Given the description of an element on the screen output the (x, y) to click on. 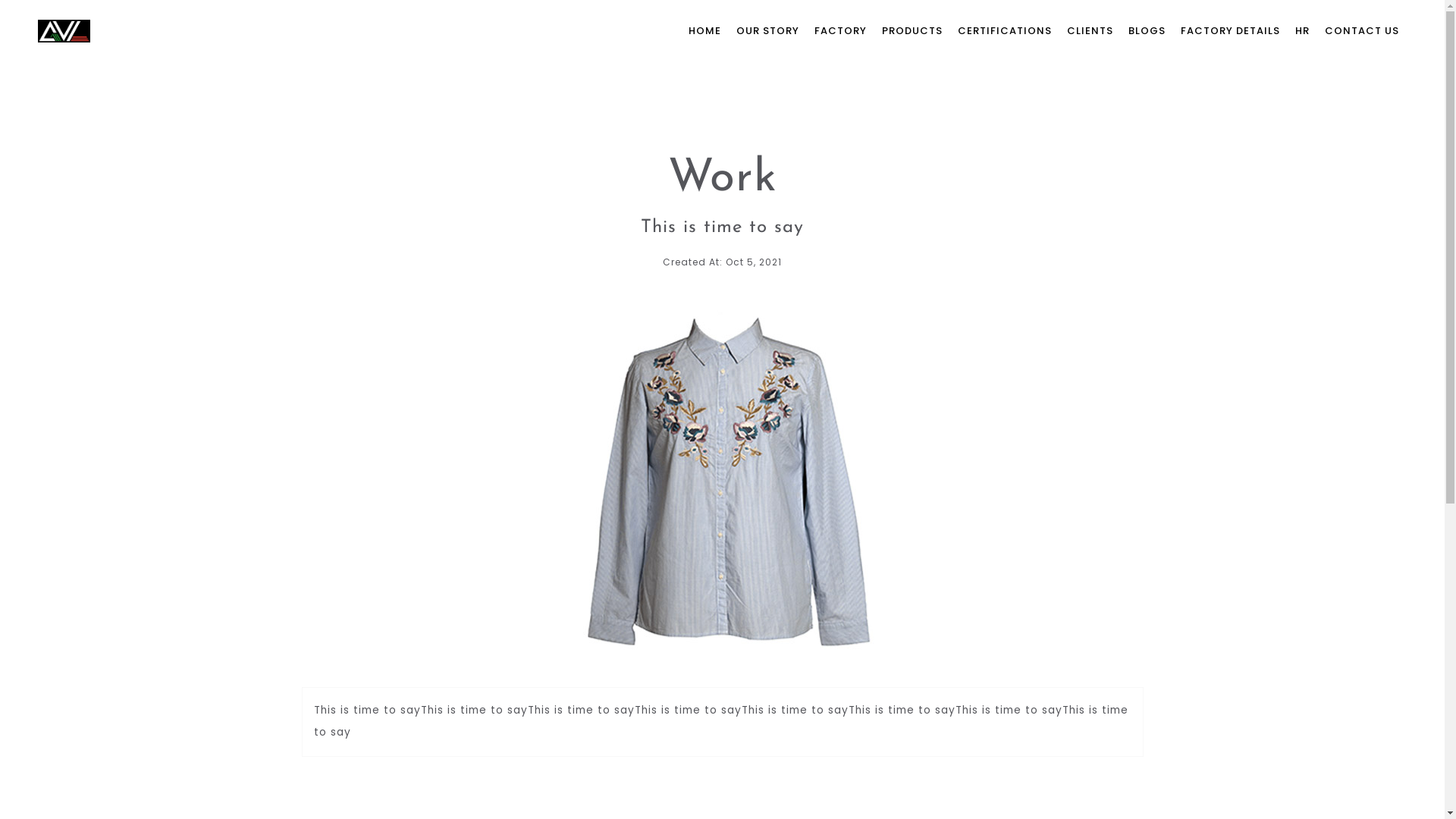
OUR STORY Element type: text (767, 30)
FACTORY DETAILS Element type: text (1230, 30)
BLOGS Element type: text (1146, 30)
FACTORY Element type: text (840, 30)
HR Element type: text (1302, 30)
CERTIFICATIONS Element type: text (1004, 30)
PRODUCTS Element type: text (912, 30)
HOME Element type: text (704, 30)
CONTACT US Element type: text (1361, 30)
CLIENTS Element type: text (1089, 30)
